Given the description of an element on the screen output the (x, y) to click on. 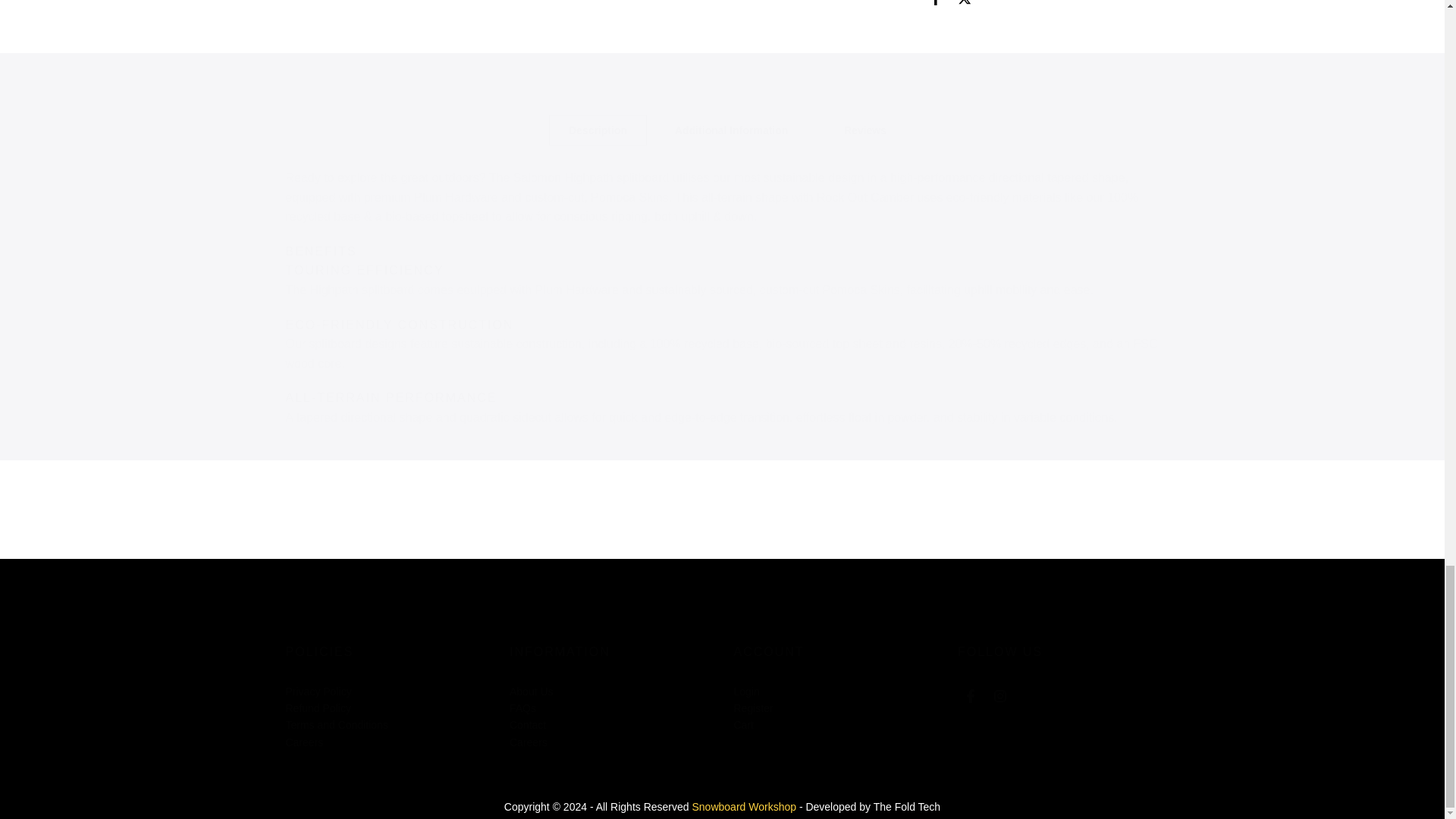
Follow on Instagram (1000, 696)
Additional Information (731, 130)
Description (597, 130)
Reviews (864, 130)
Follow on Facebook (971, 696)
